Given the description of an element on the screen output the (x, y) to click on. 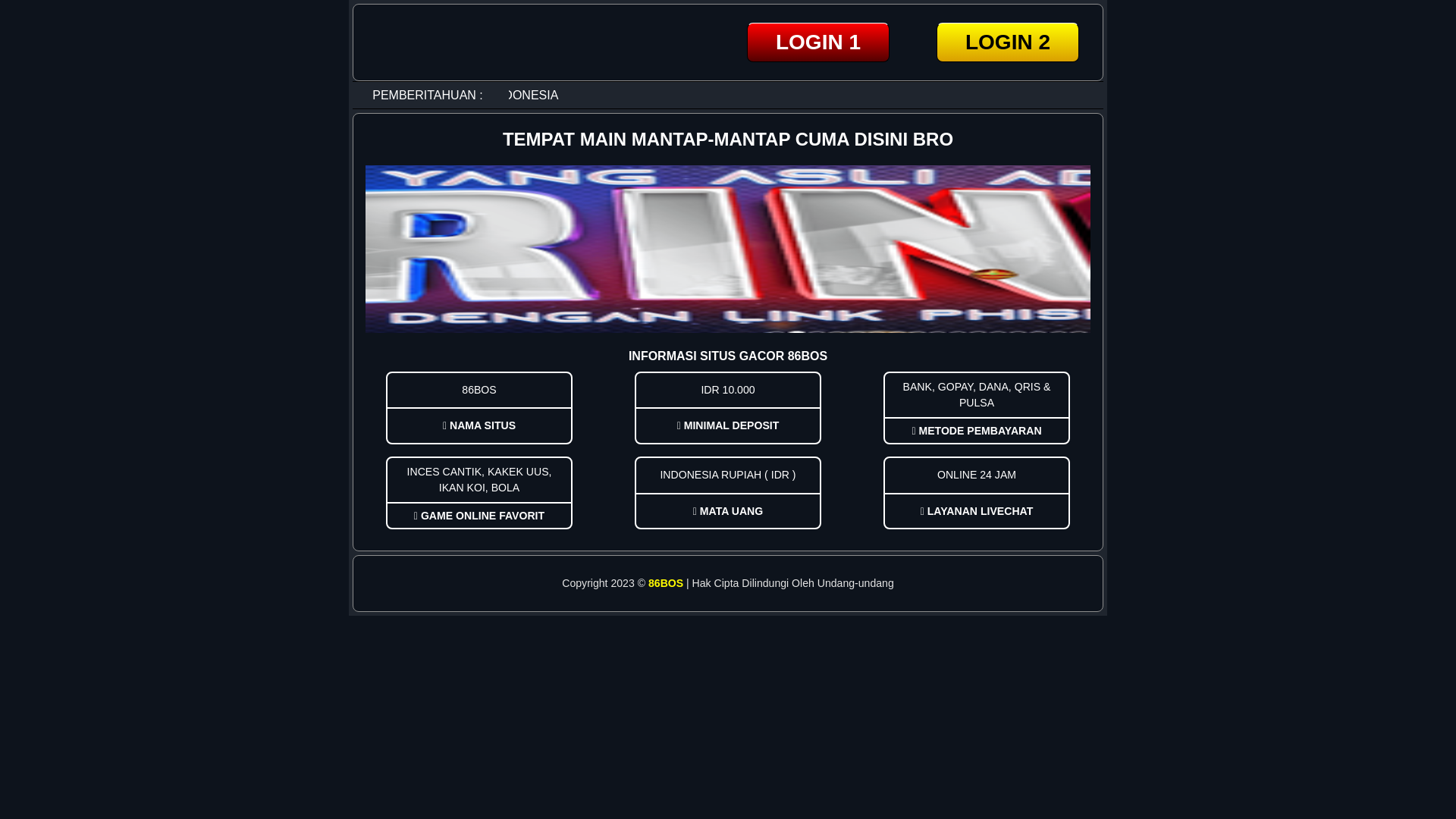
LOGIN 2 Element type: text (1007, 42)
LOGIN 1 Element type: text (817, 42)
86BOS Element type: text (665, 583)
